Given the description of an element on the screen output the (x, y) to click on. 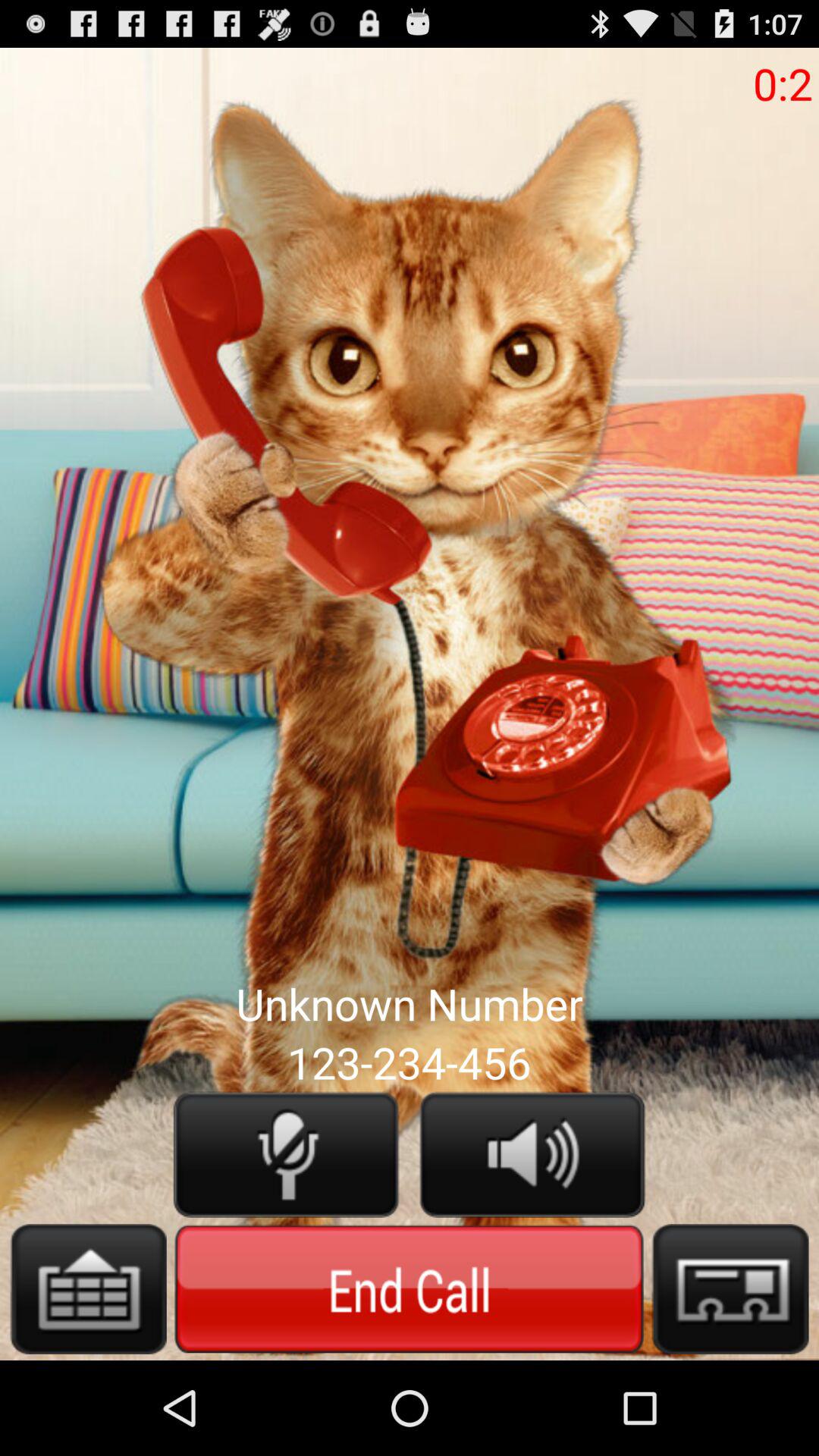
sound (532, 1154)
